Given the description of an element on the screen output the (x, y) to click on. 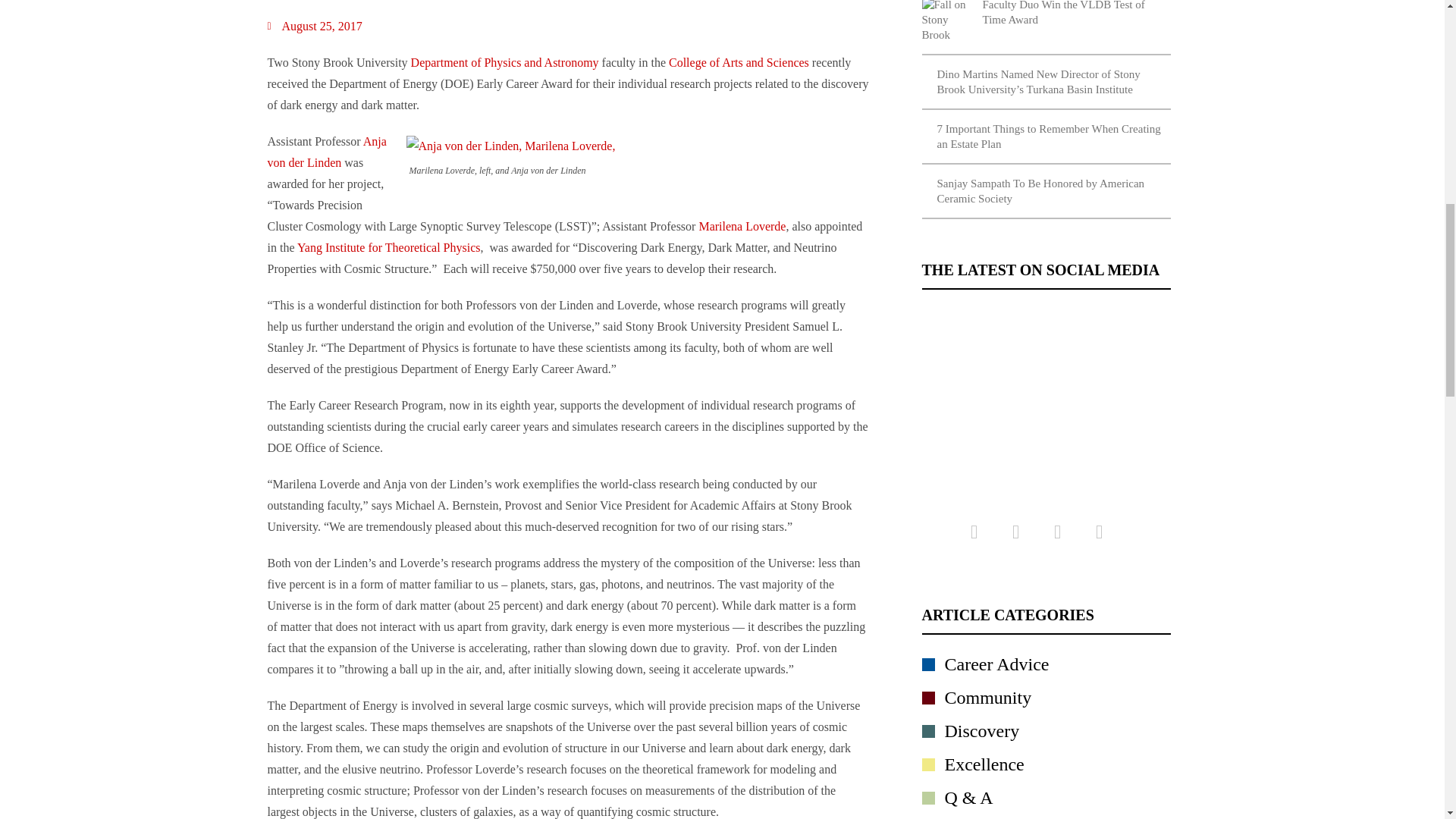
Department of Physics and Astronomy (504, 62)
College of Arts and Sciences (740, 62)
August 25, 2017 (313, 25)
